Given the description of an element on the screen output the (x, y) to click on. 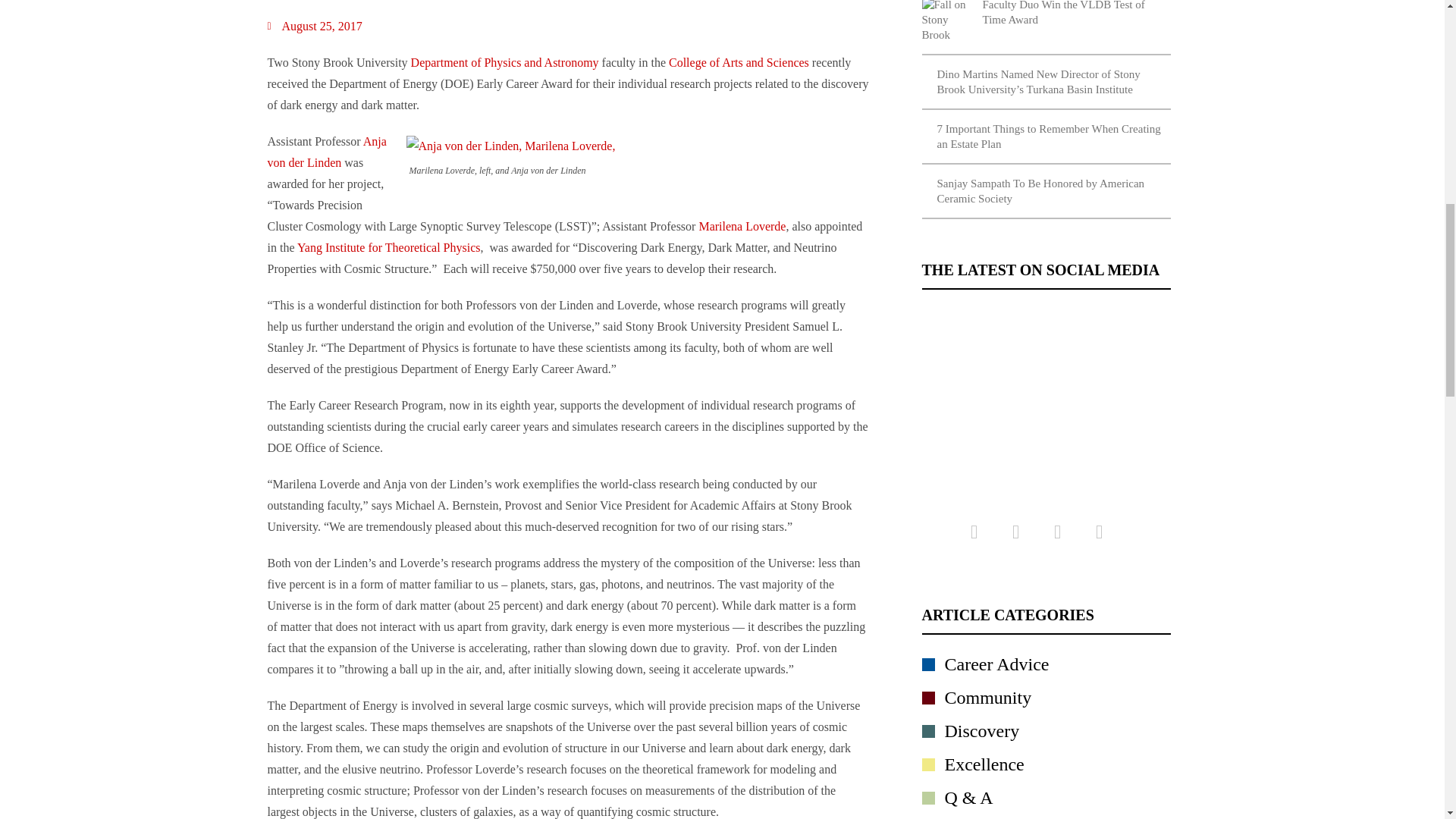
Department of Physics and Astronomy (504, 62)
College of Arts and Sciences (740, 62)
August 25, 2017 (313, 25)
